Given the description of an element on the screen output the (x, y) to click on. 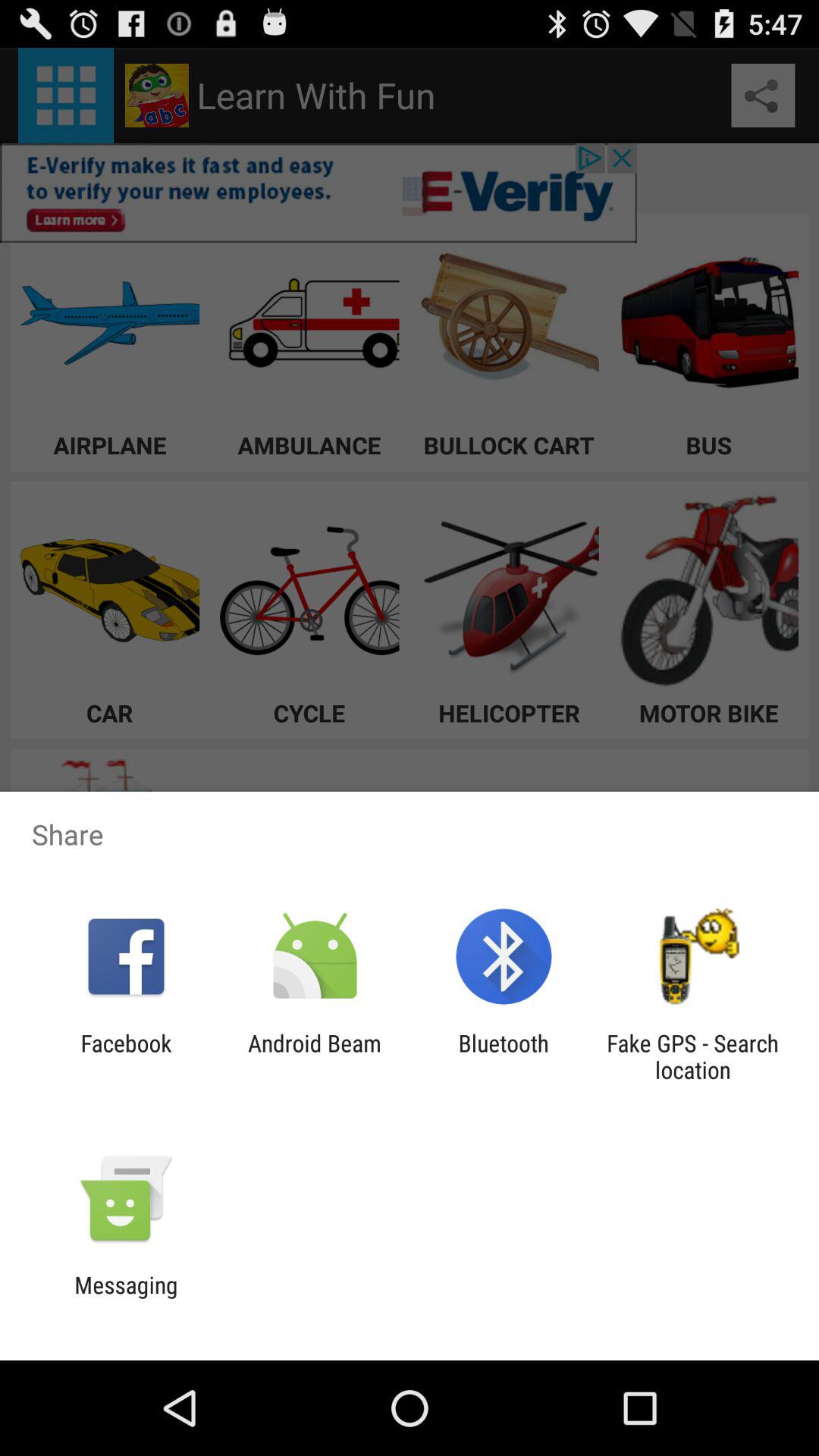
turn off the icon to the right of android beam (503, 1056)
